Given the description of an element on the screen output the (x, y) to click on. 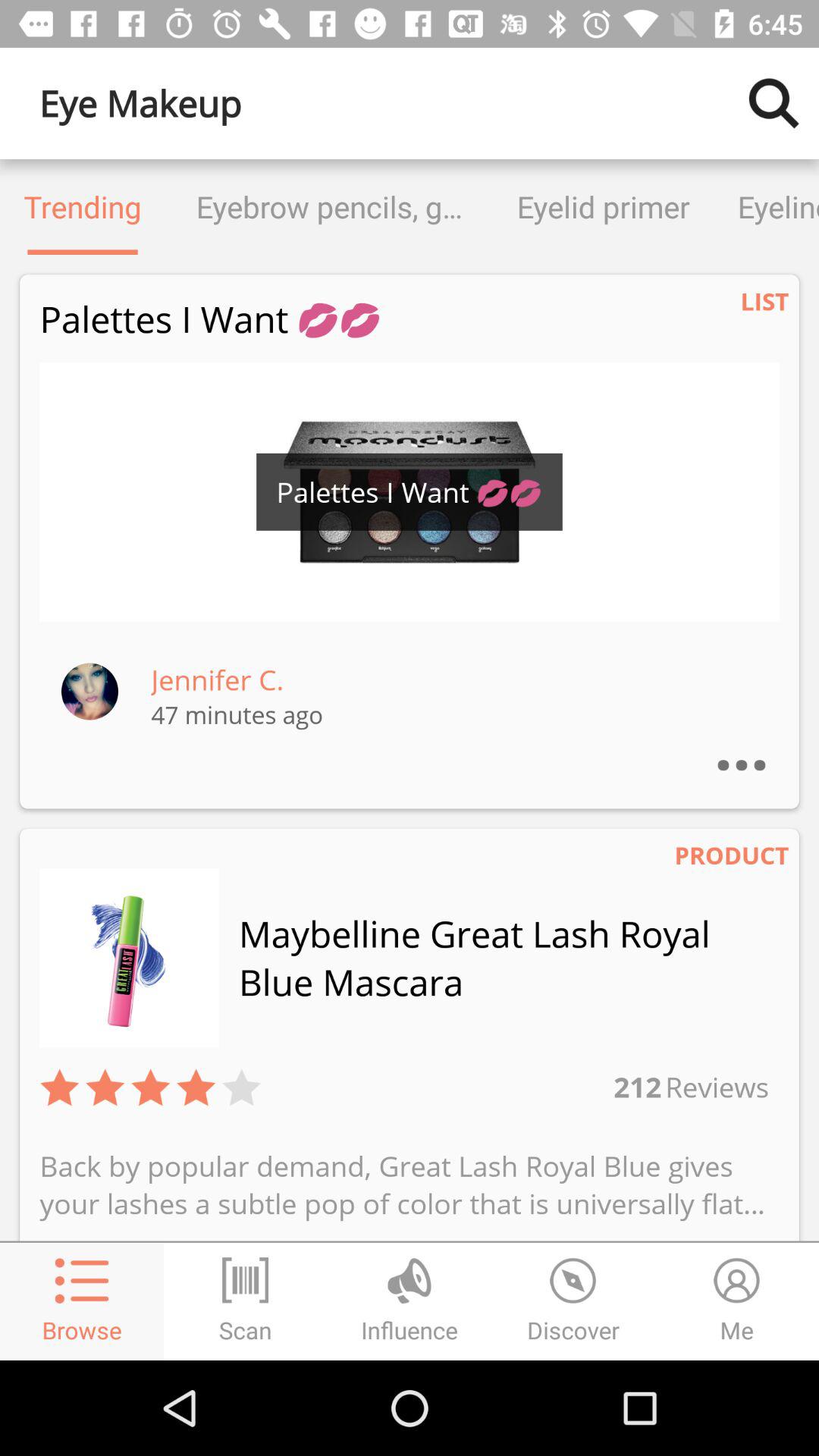
scroll to reviews (714, 1086)
